Given the description of an element on the screen output the (x, y) to click on. 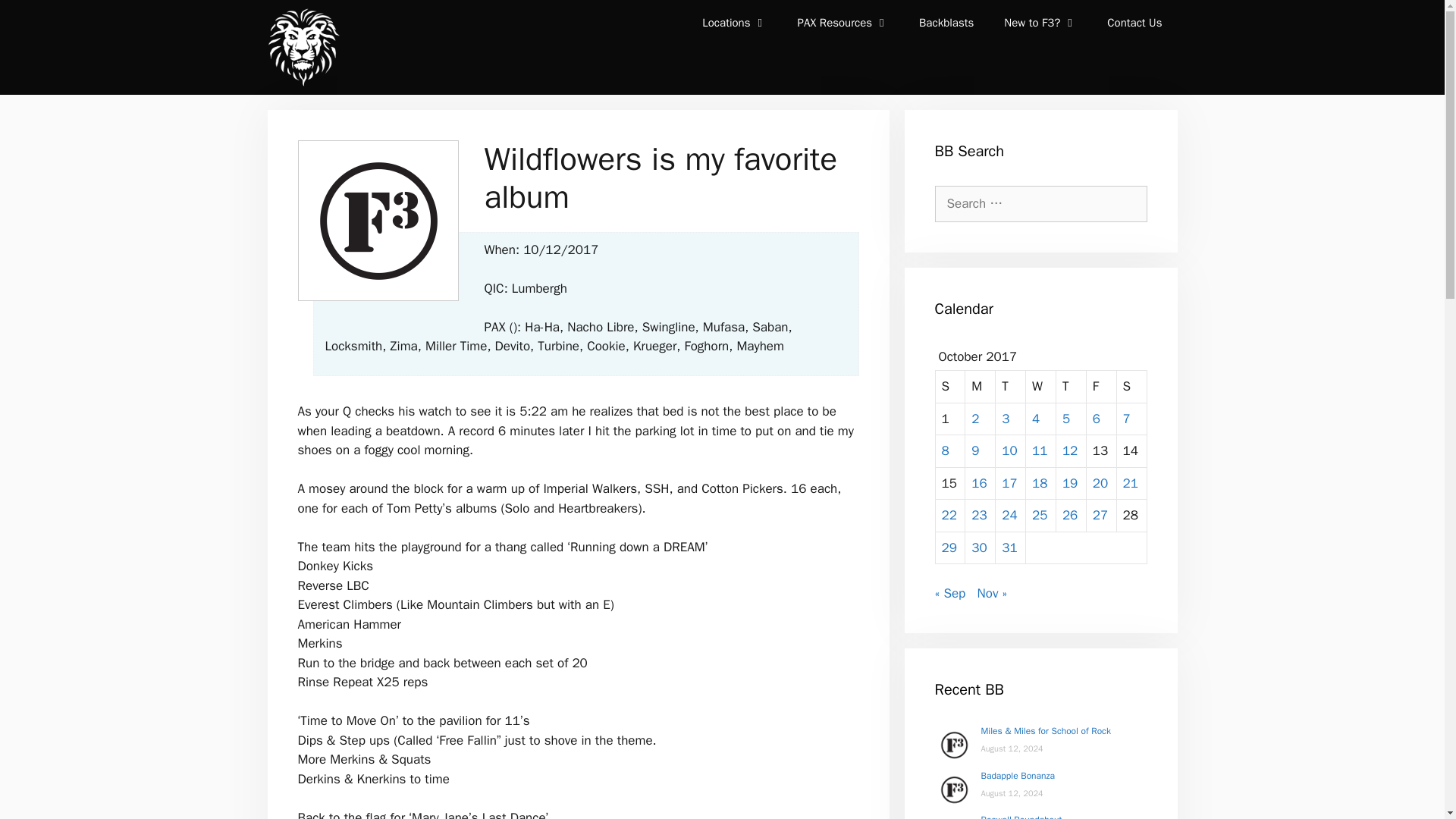
Backblasts (946, 22)
Thursday (1071, 387)
New to F3? (1040, 22)
PAX Resources (843, 22)
Locations (734, 22)
Friday (1101, 387)
Monday (980, 387)
Contact Us (1134, 22)
Sunday (951, 387)
Wednesday (1041, 387)
